Given the description of an element on the screen output the (x, y) to click on. 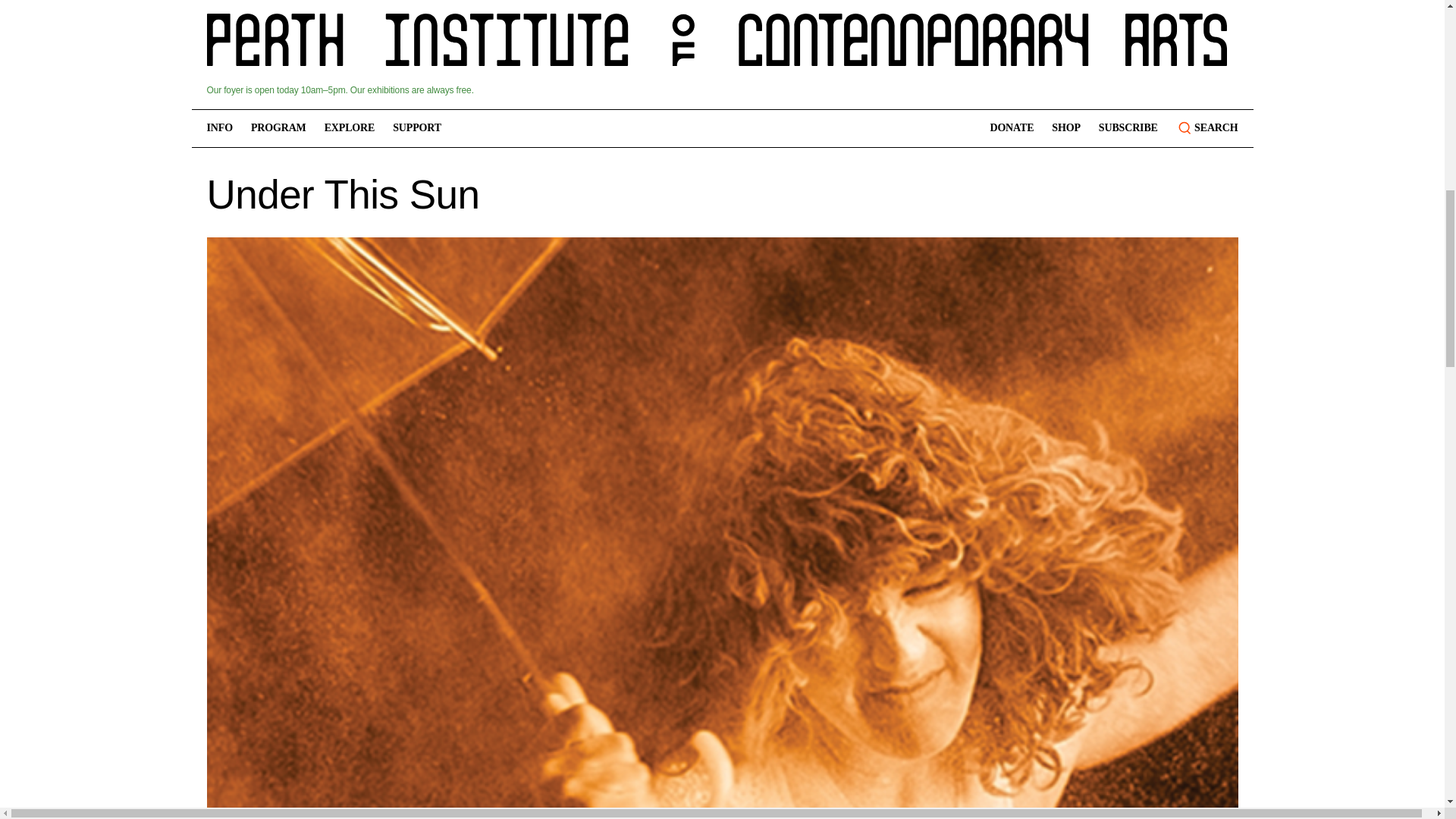
SUBSCRIBE (1128, 128)
INFO (218, 128)
PROGRAM (277, 128)
DONATE (1011, 128)
SEARCH (1207, 128)
SHOP (1065, 128)
SUPPORT (417, 128)
EXPLORE (349, 128)
